Given the description of an element on the screen output the (x, y) to click on. 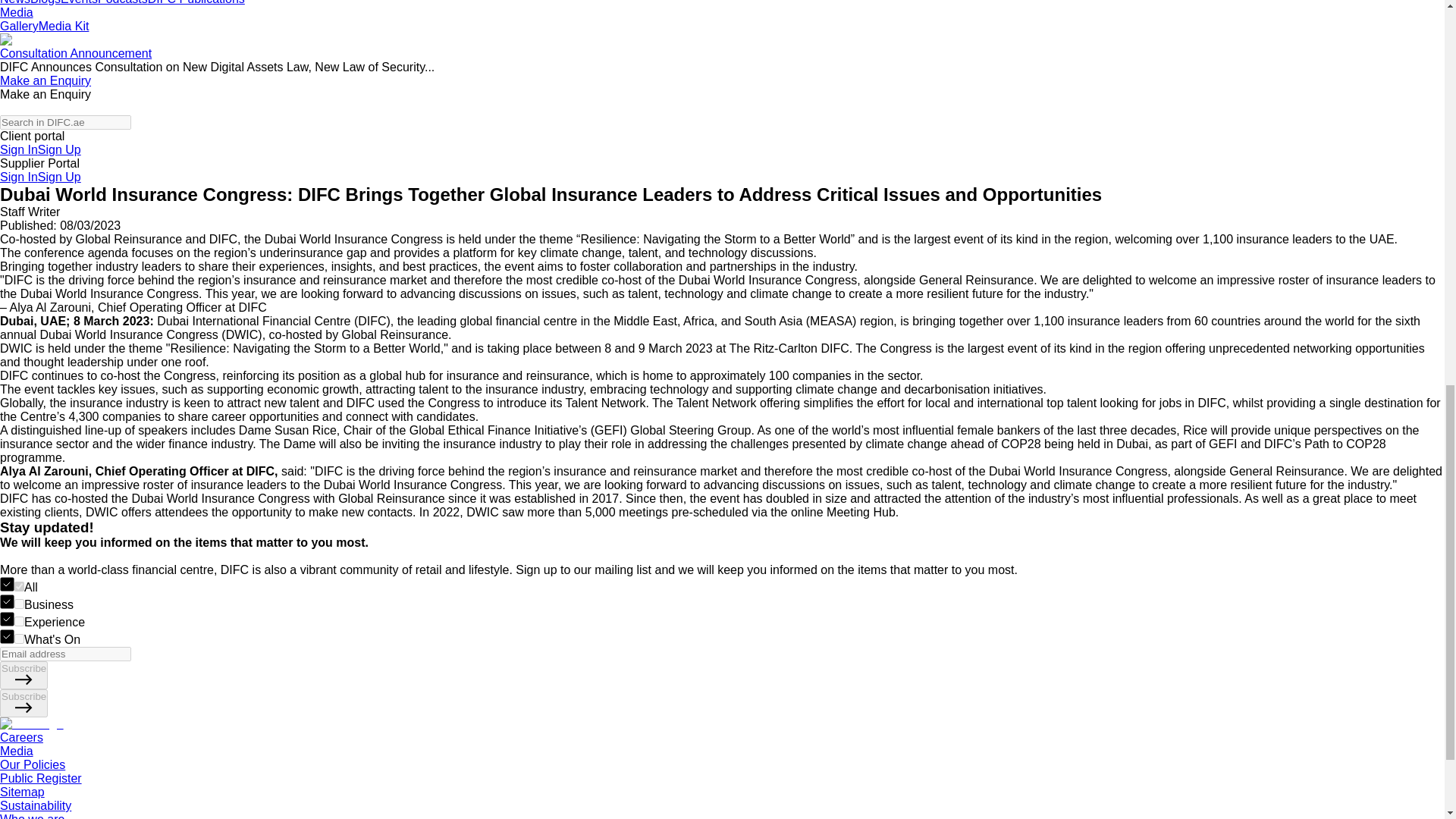
WhatsOn (19, 638)
All (19, 586)
Business (19, 603)
Experience (19, 621)
